Given the description of an element on the screen output the (x, y) to click on. 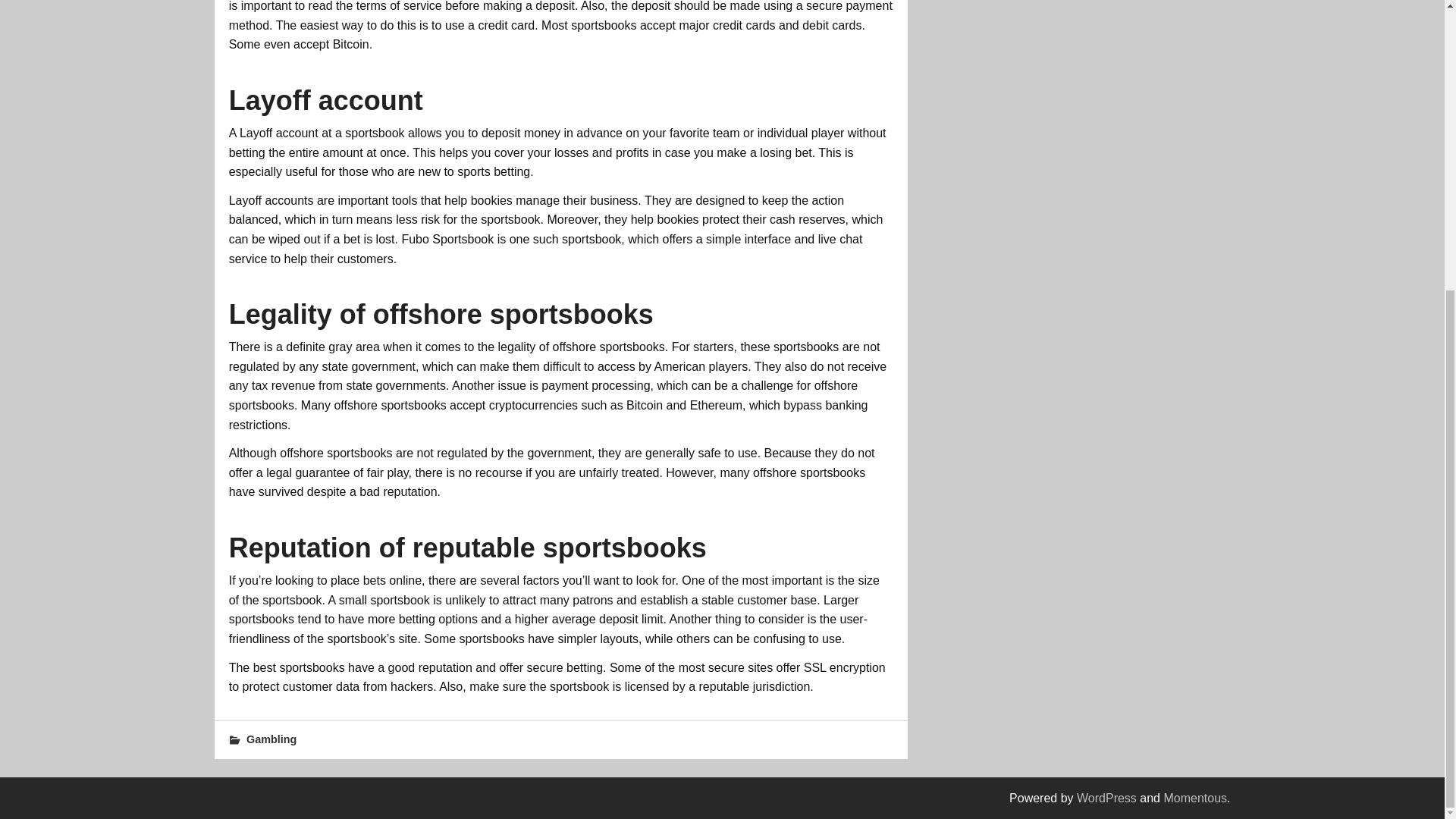
Momentous (1195, 797)
Gambling (271, 739)
WordPress (1107, 797)
Momentous WordPress Theme (1195, 797)
WordPress (1107, 797)
